Given the description of an element on the screen output the (x, y) to click on. 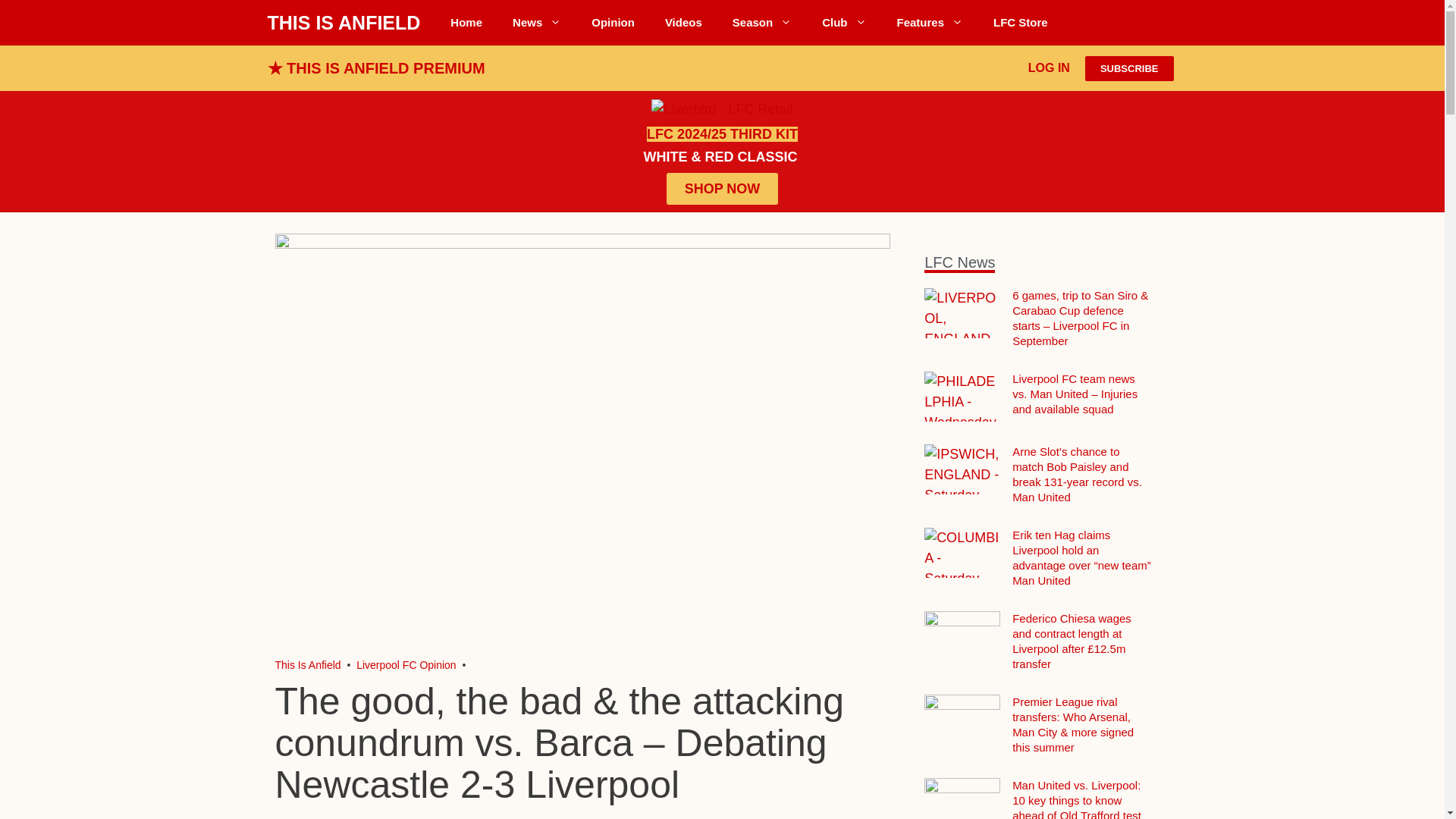
THIS IS ANFIELD (343, 22)
Liverpool FC News (536, 22)
Liverpool FC Videos (683, 22)
Opinion (612, 22)
Liverpool FC (307, 664)
Features (929, 22)
News (536, 22)
Liverpool FC Opinion (612, 22)
Club (843, 22)
Go to the Liverpool FC Opinion category archives. (406, 664)
